Given the description of an element on the screen output the (x, y) to click on. 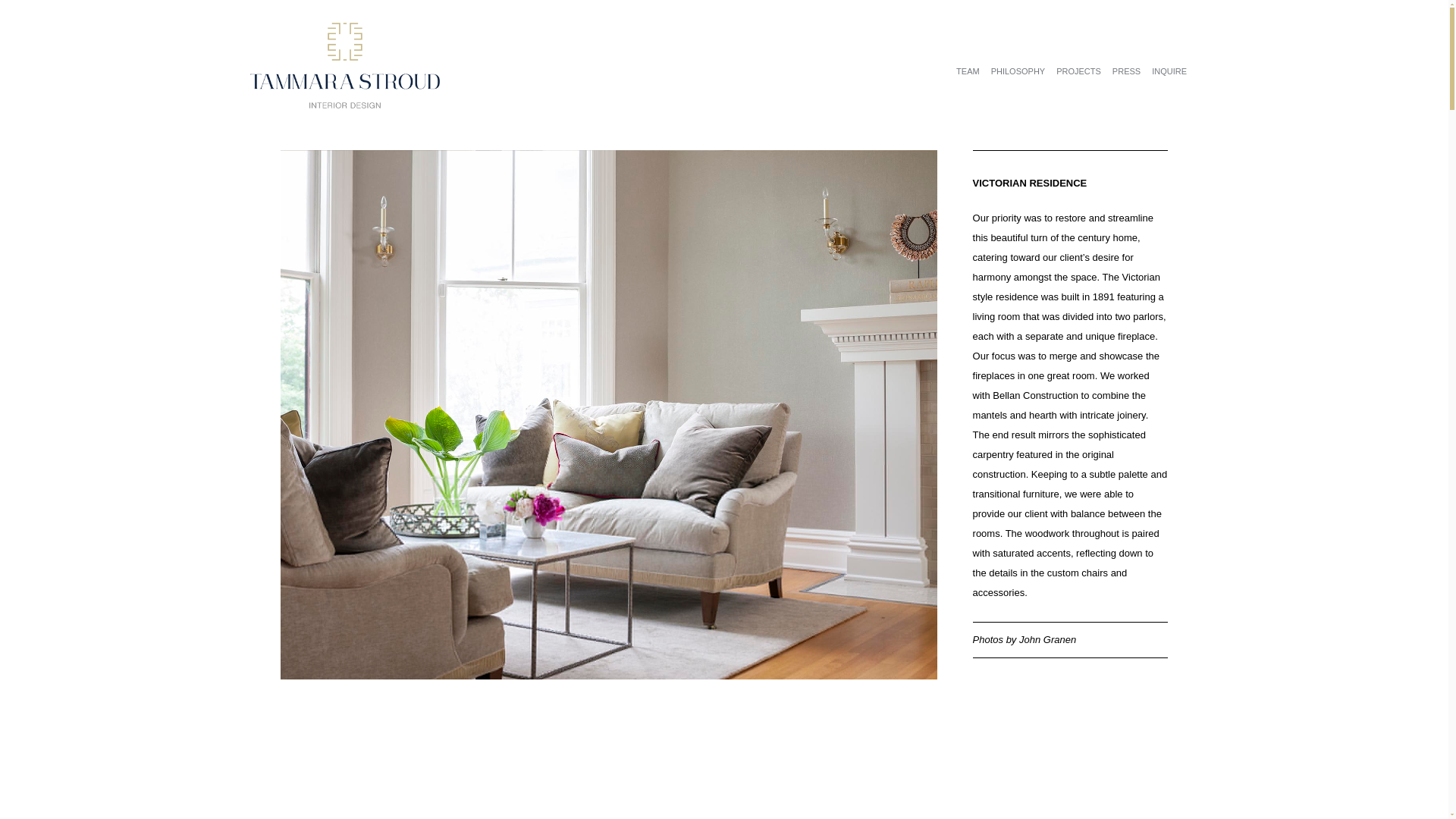
PROJECTS (1078, 71)
PRESS (1126, 71)
INQUIRE (1168, 71)
TEAM (967, 71)
PHILOSOPHY (1018, 71)
